Given the description of an element on the screen output the (x, y) to click on. 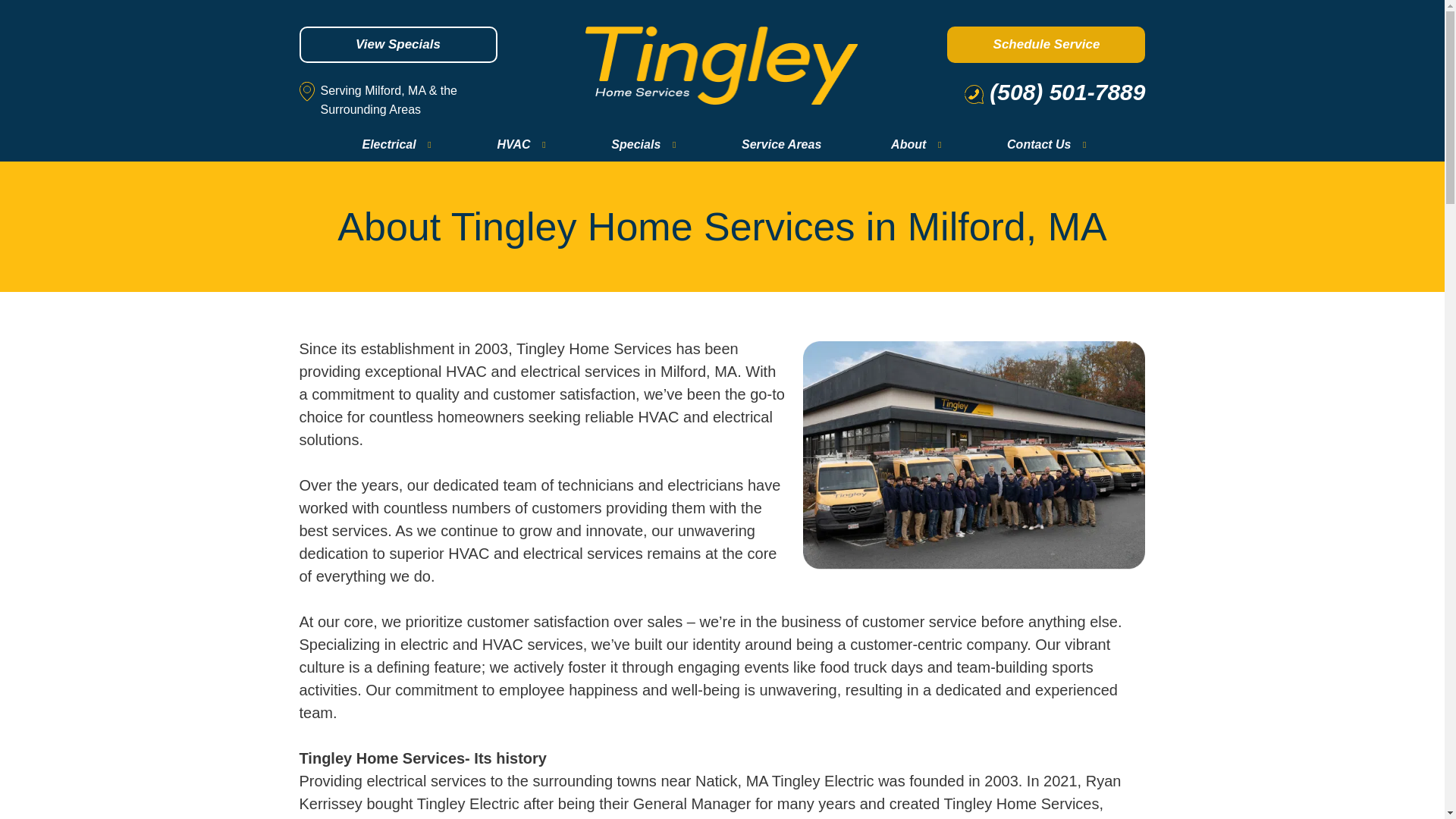
View Specials (397, 44)
Tingley Home Services (722, 65)
Electrical (394, 144)
Schedule Service (1045, 44)
